Given the description of an element on the screen output the (x, y) to click on. 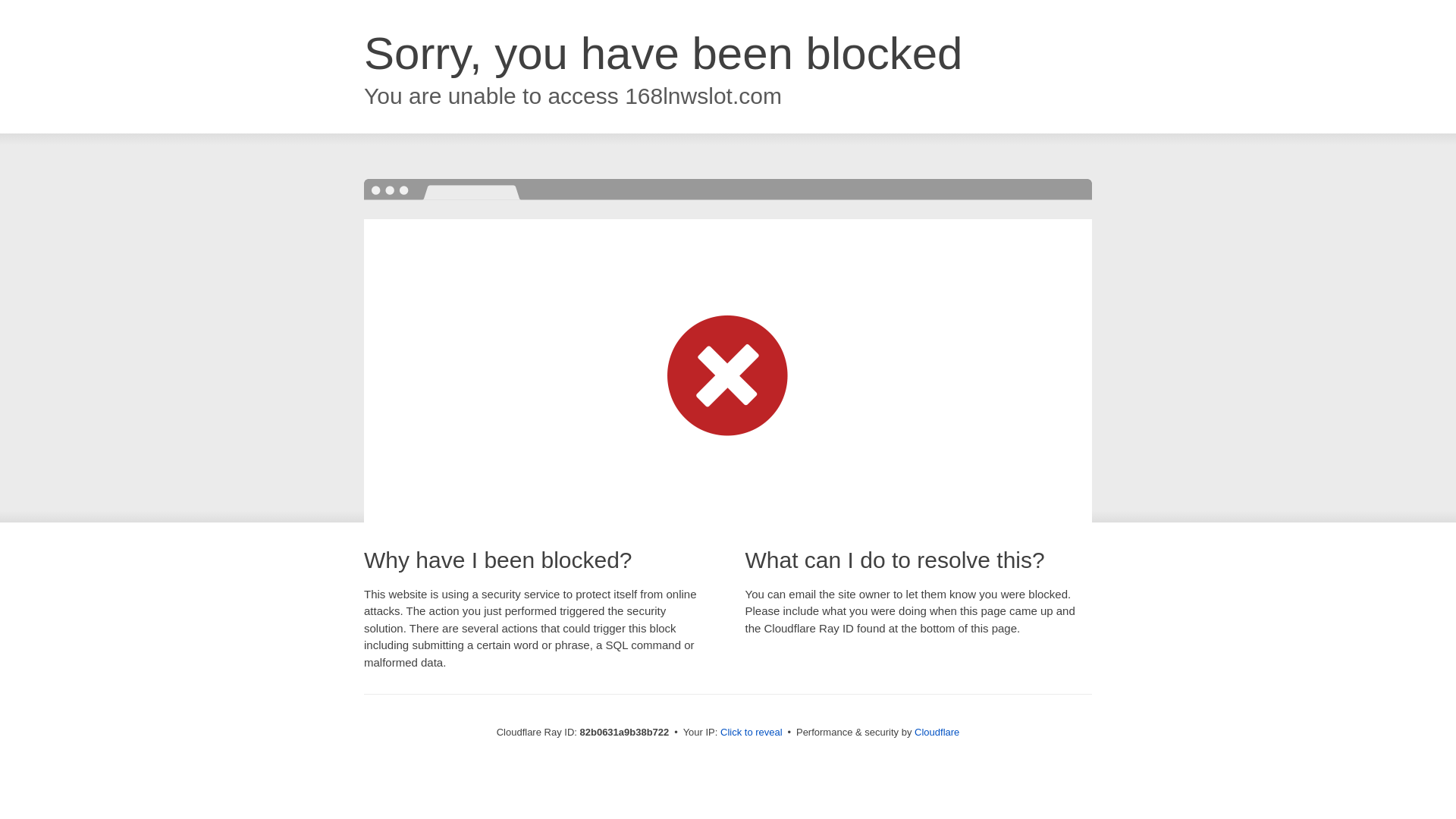
Cloudflare Element type: text (936, 731)
Click to reveal Element type: text (751, 732)
